Given the description of an element on the screen output the (x, y) to click on. 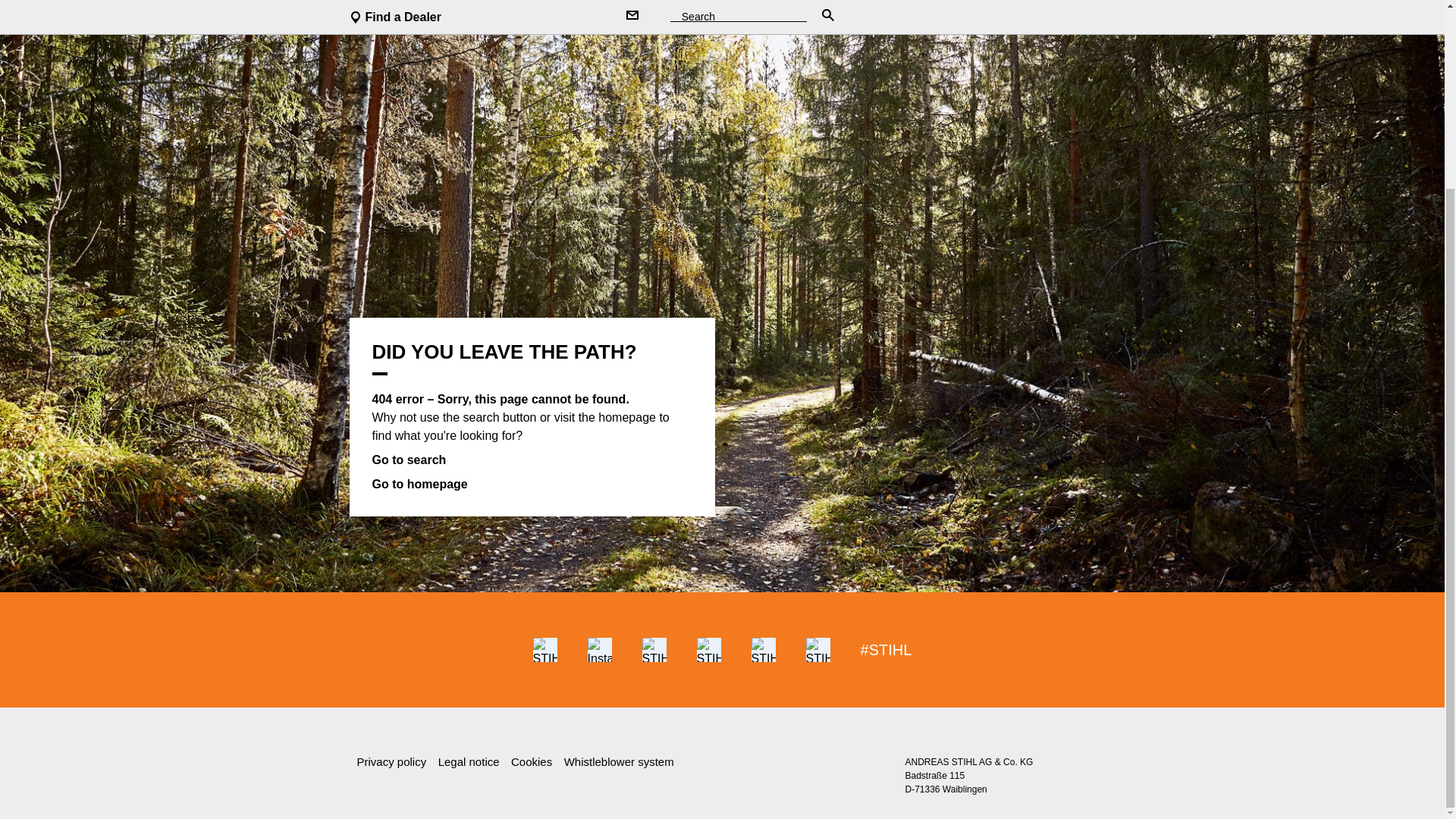
Cookies (531, 761)
Go to search (408, 460)
Whistleblower system (619, 761)
Privacy policy (391, 761)
Go to homepage (419, 484)
Legal notice (468, 761)
